Given the description of an element on the screen output the (x, y) to click on. 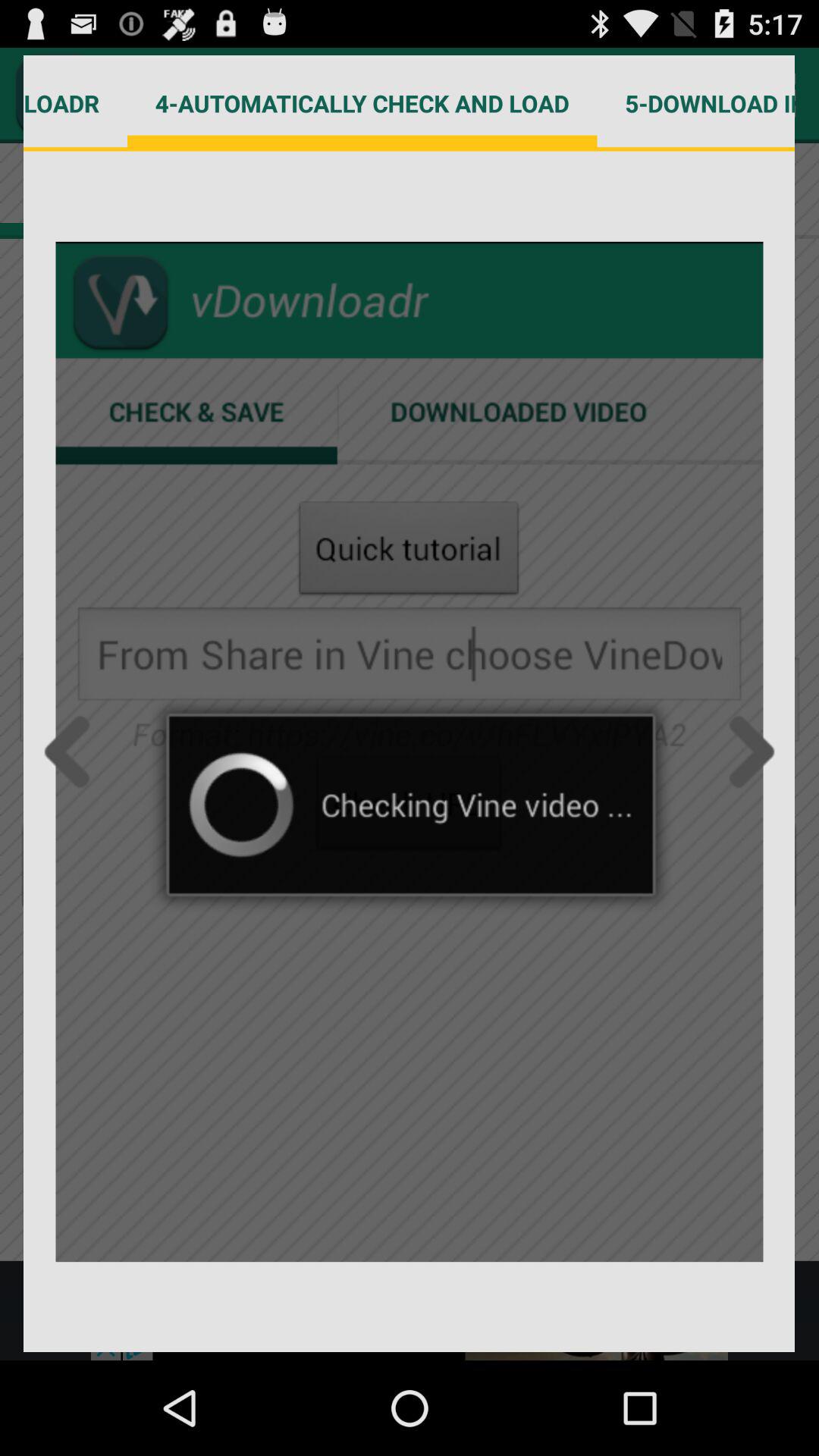
tap the 5 download in (696, 103)
